Given the description of an element on the screen output the (x, y) to click on. 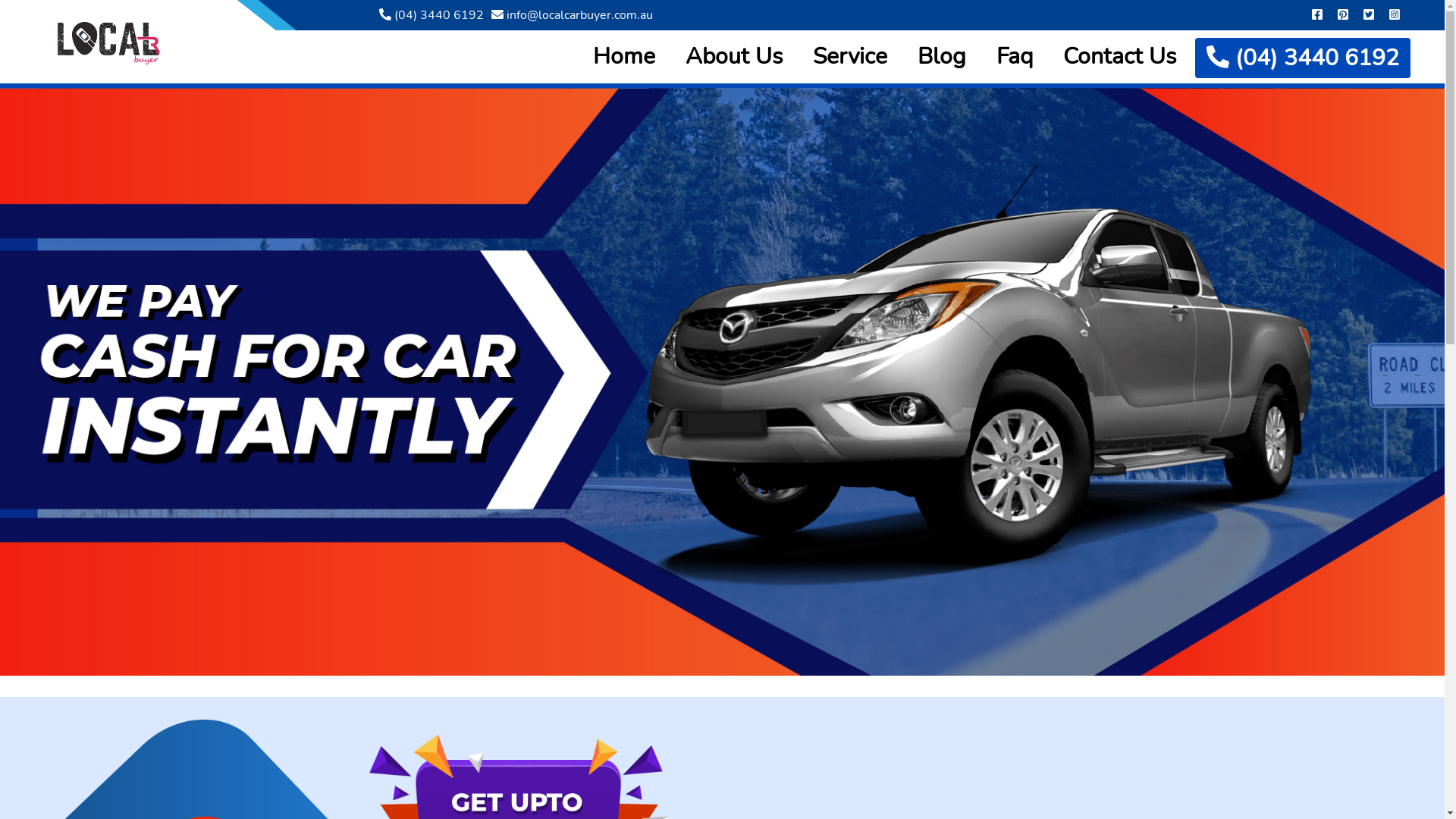
Service Element type: text (849, 56)
info@localcarbuyer.com.au Element type: text (571, 14)
Blog Element type: text (941, 56)
Home Element type: text (623, 56)
(04) 3440 6192 Element type: text (431, 14)
(04) 3440 6192 Element type: text (1302, 57)
About Us Element type: text (733, 56)
Contact Us Element type: text (1119, 56)
Faq Element type: text (1014, 56)
